Given the description of an element on the screen output the (x, y) to click on. 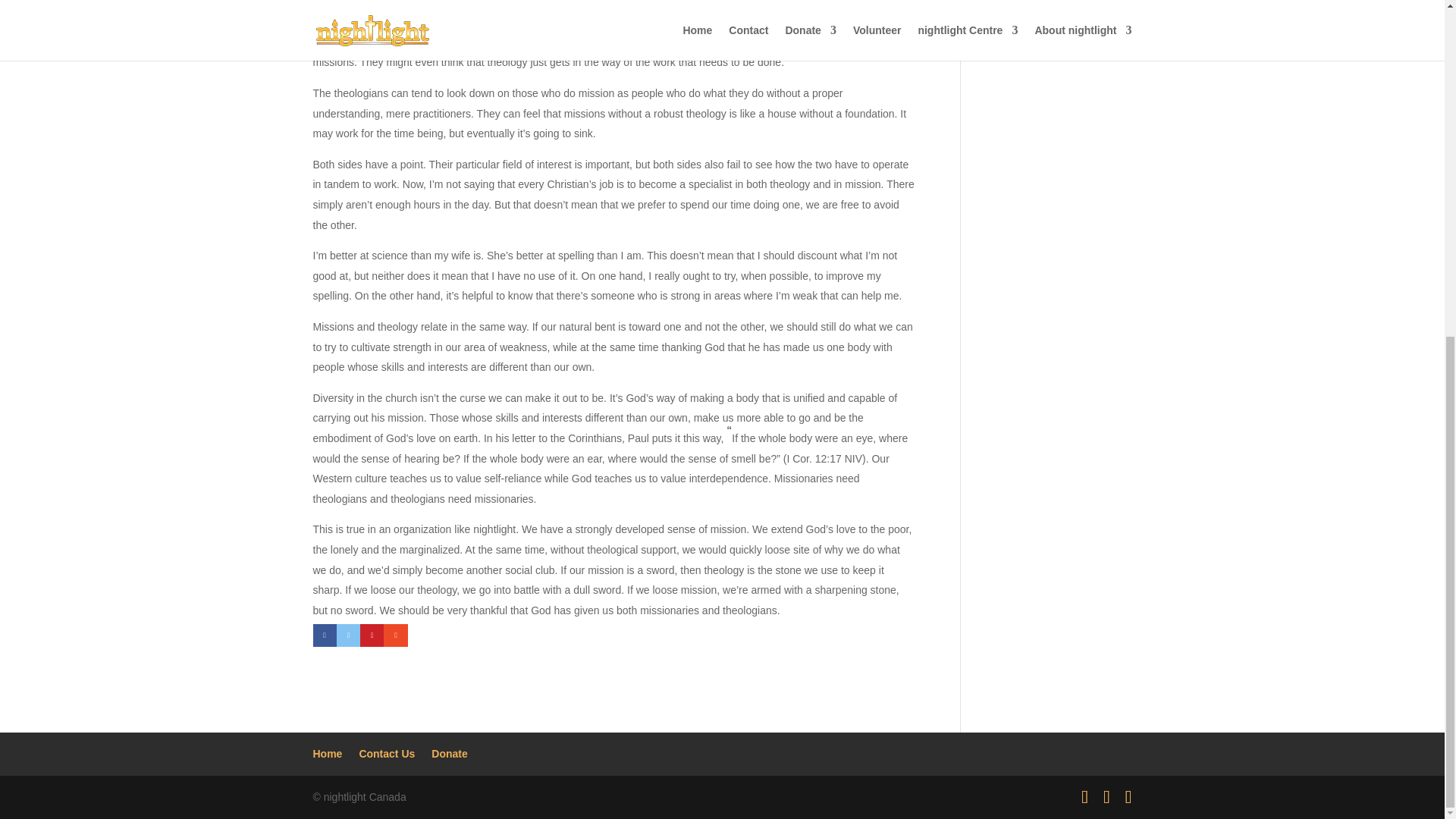
Pinterest (371, 635)
Donate (448, 753)
Contact Us (386, 753)
Twitter (347, 635)
Share (324, 635)
Home (327, 753)
Mail (395, 635)
